Given the description of an element on the screen output the (x, y) to click on. 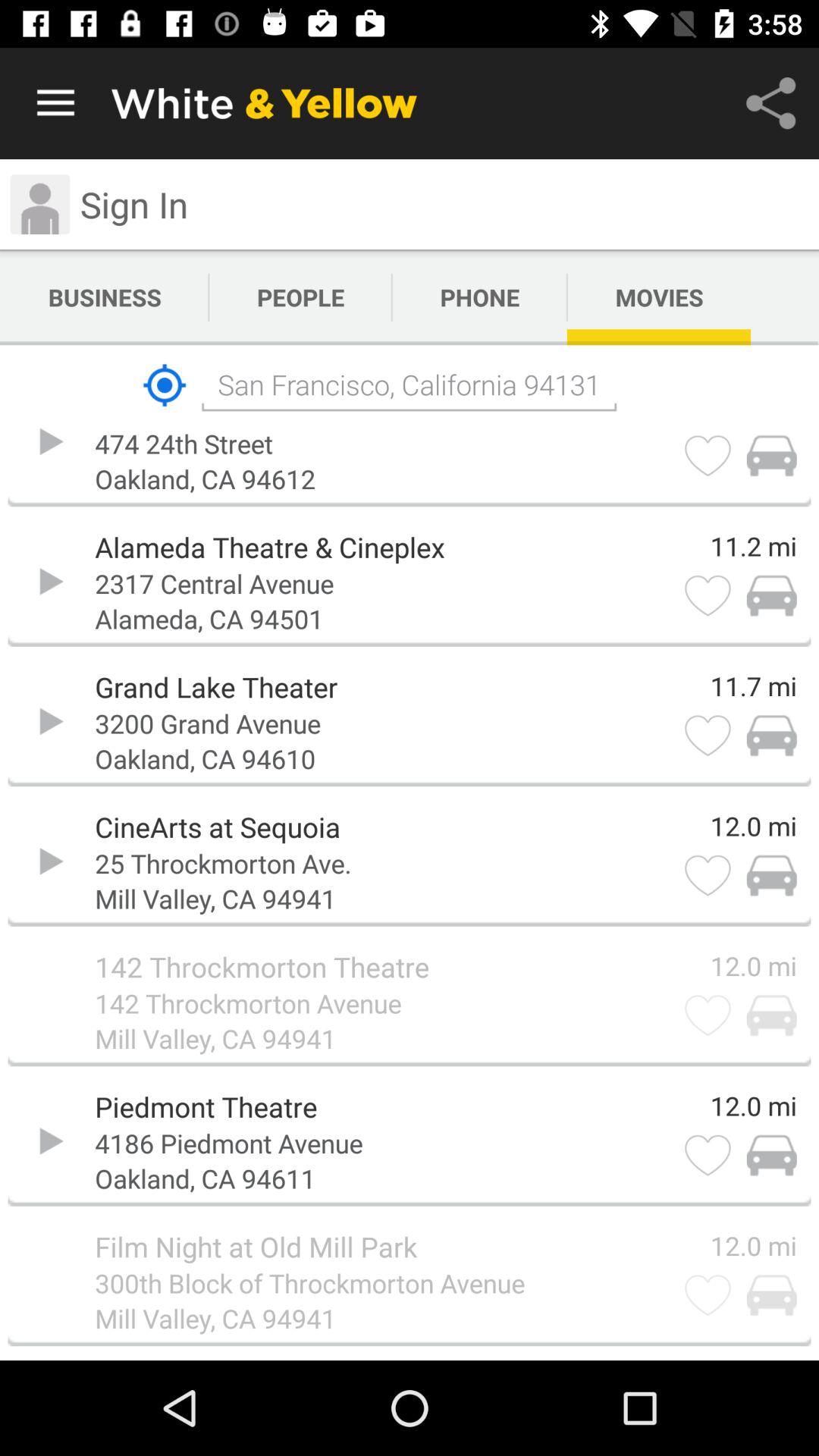
open the item below the business item (164, 385)
